Given the description of an element on the screen output the (x, y) to click on. 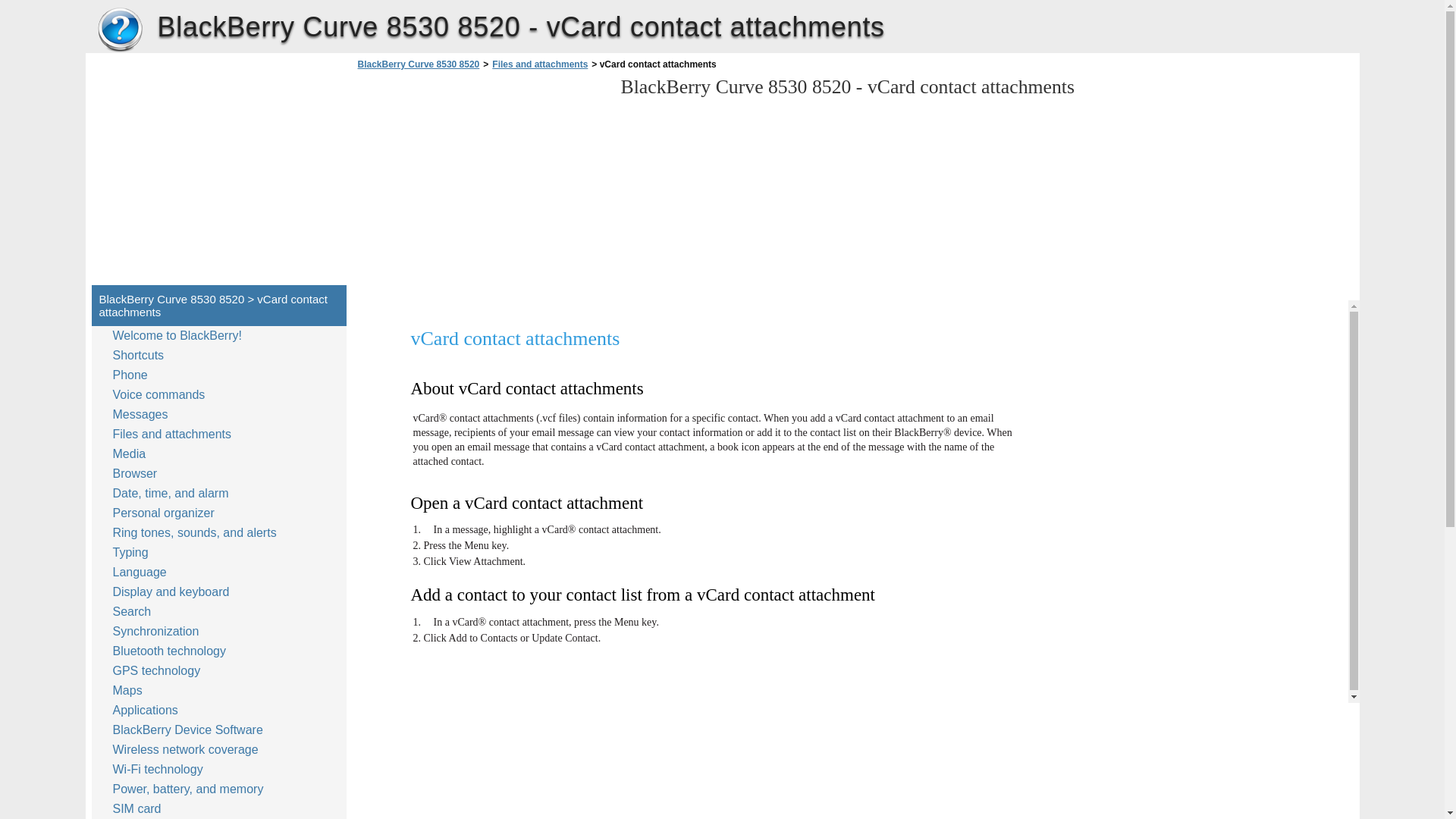
Advertisement (480, 766)
BlackBerry Curve 8530 8520 (418, 64)
Advertisement (218, 166)
Phone (133, 374)
Files and attachments (539, 64)
BlackBerry Curve 8530 8520 (119, 30)
BlackBerry Curve 8530 8520 (119, 30)
Voice commands (162, 394)
Advertisement (480, 182)
Shortcuts (141, 355)
